Given the description of an element on the screen output the (x, y) to click on. 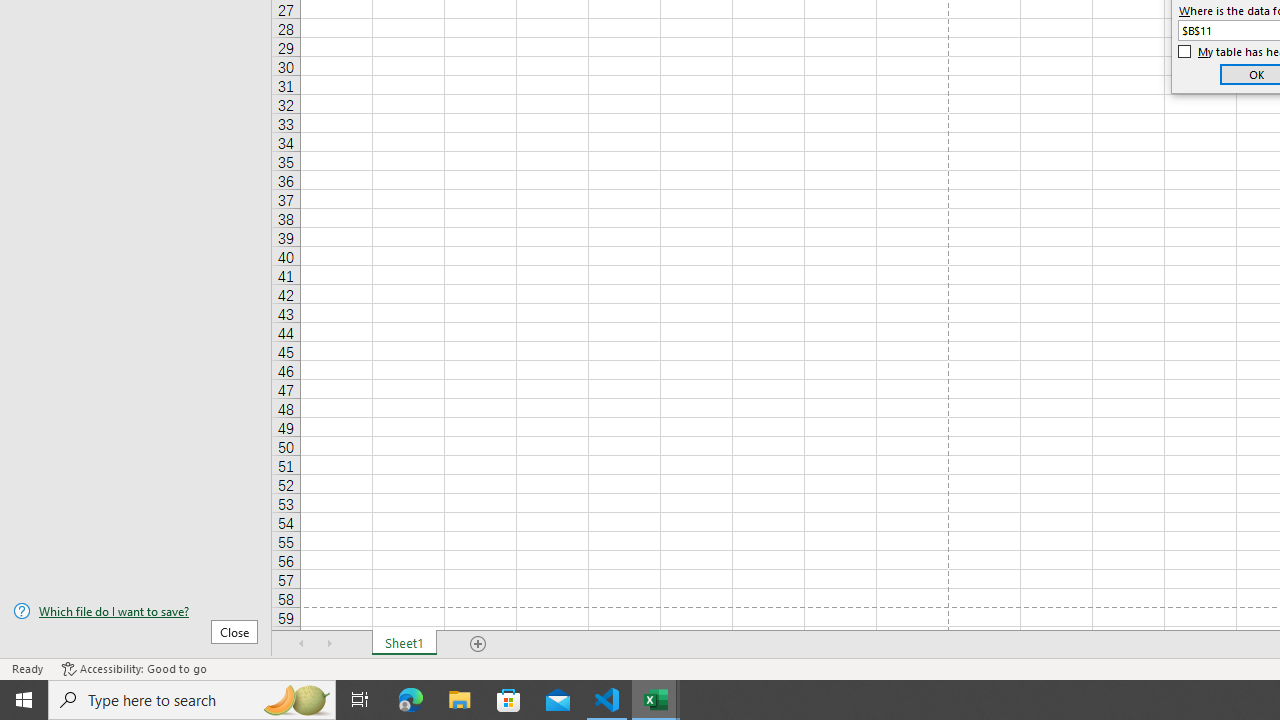
Accessibility Checker Accessibility: Good to go (134, 668)
Which file do I want to save? (136, 611)
